Given the description of an element on the screen output the (x, y) to click on. 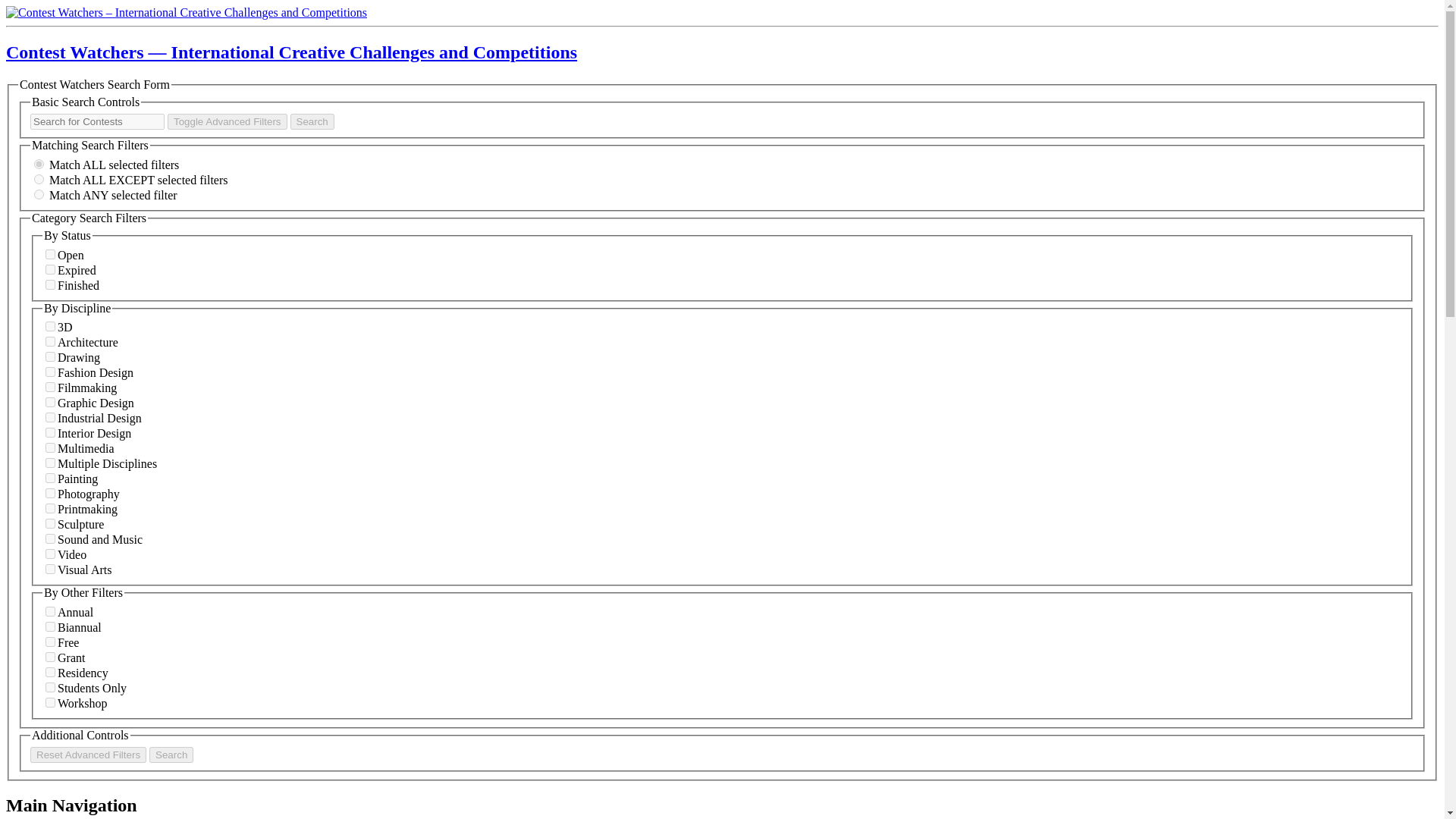
2412 (50, 269)
104 (50, 284)
107 (50, 492)
105 (50, 402)
Reset Advanced Filters (88, 754)
Toggle Advanced Filters (226, 121)
Search (171, 754)
114 (50, 478)
Reset Advanced Filters (88, 754)
106 (50, 326)
Search (311, 121)
118 (50, 356)
Set advanced search filters (226, 121)
any (38, 194)
